Given the description of an element on the screen output the (x, y) to click on. 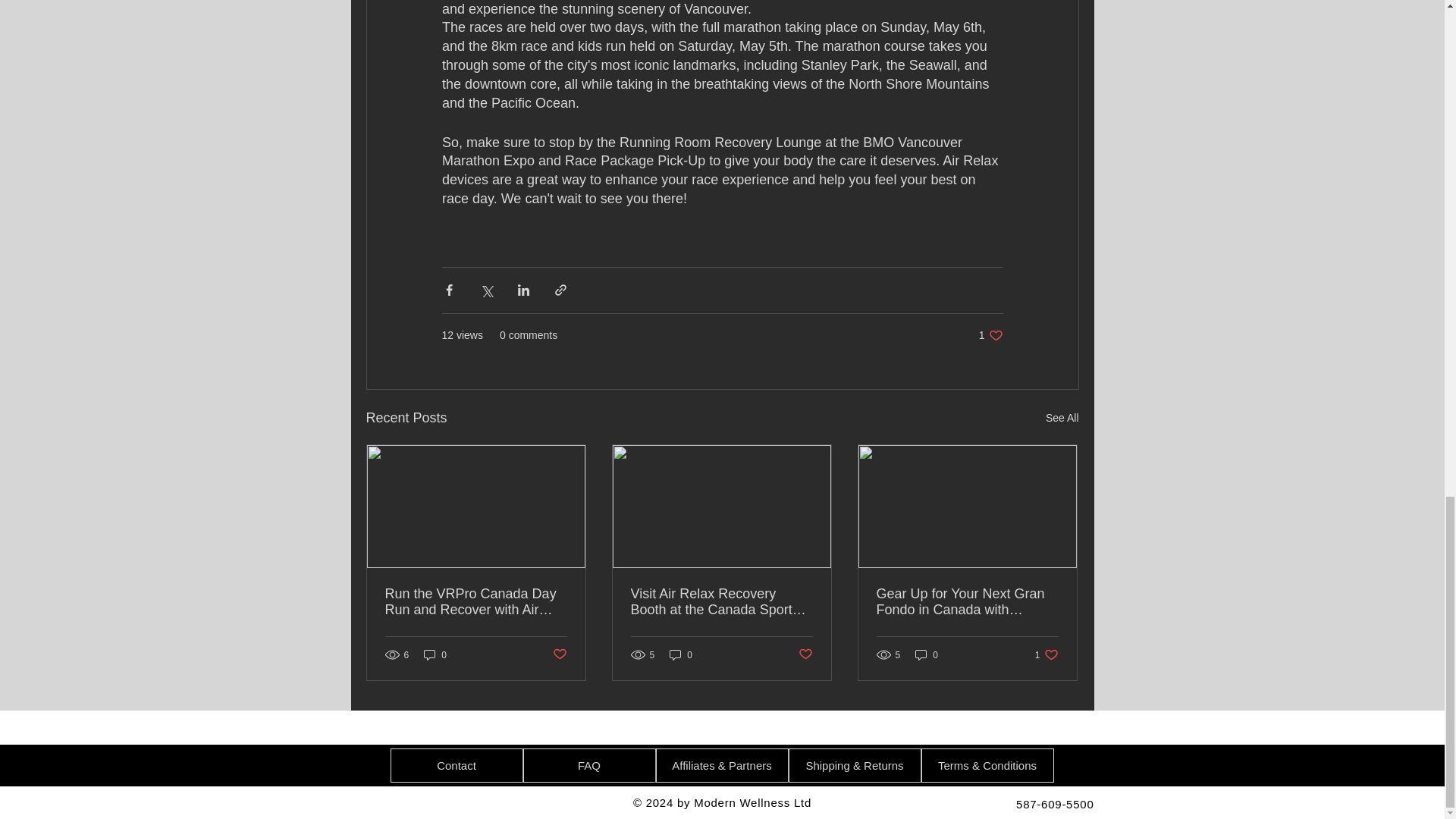
0 (435, 654)
Post not marked as liked (558, 654)
Post not marked as liked (804, 654)
Gear Up for Your Next Gran Fondo in Canada with AirRelax.ca (967, 602)
0 (990, 335)
FAQ (681, 654)
See All (589, 765)
